Given the description of an element on the screen output the (x, y) to click on. 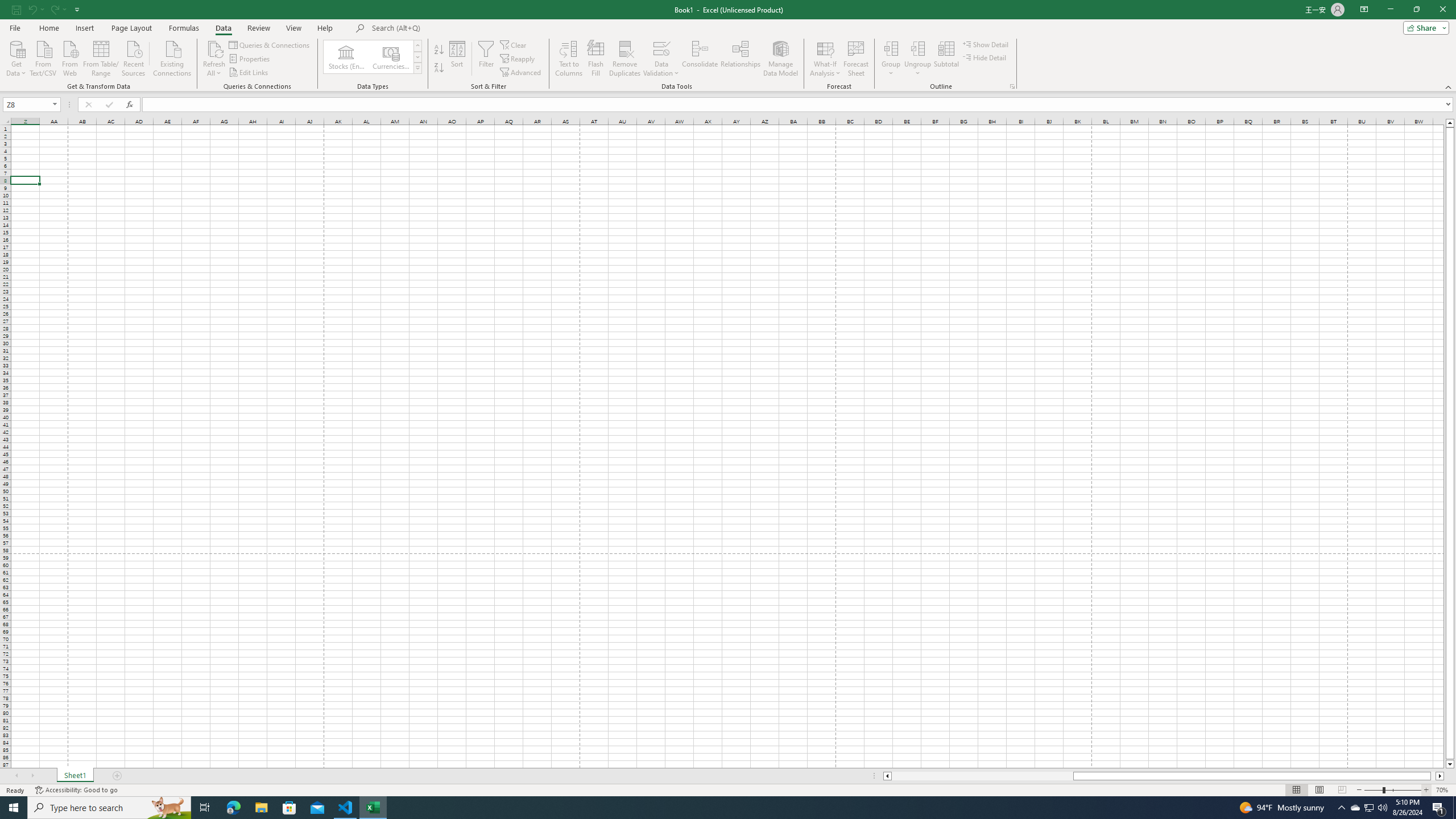
From Web (69, 57)
